Given the description of an element on the screen output the (x, y) to click on. 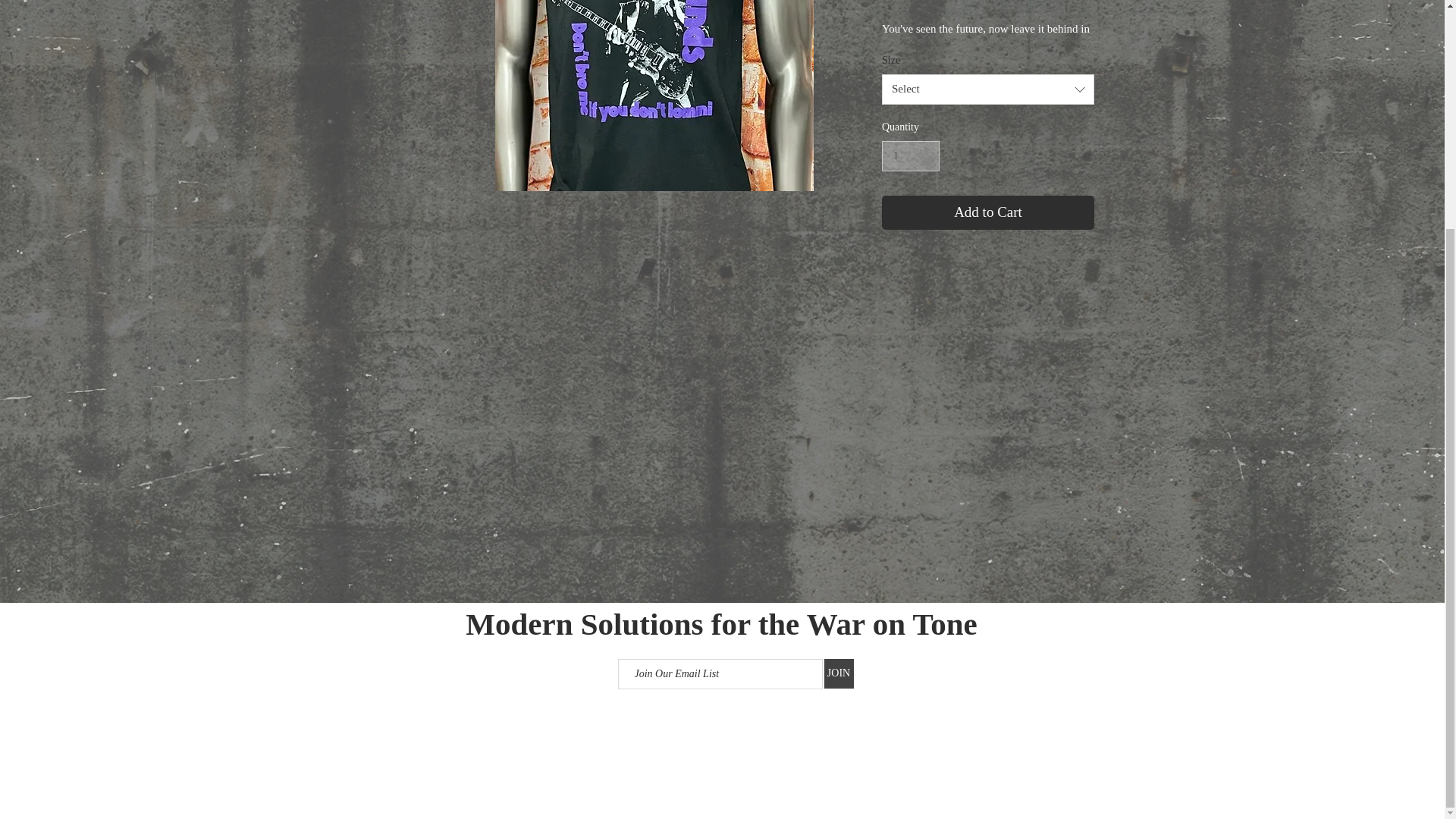
Add to Cart (988, 212)
1 (910, 155)
Select (988, 89)
JOIN (838, 673)
Button (869, 66)
